Given the description of an element on the screen output the (x, y) to click on. 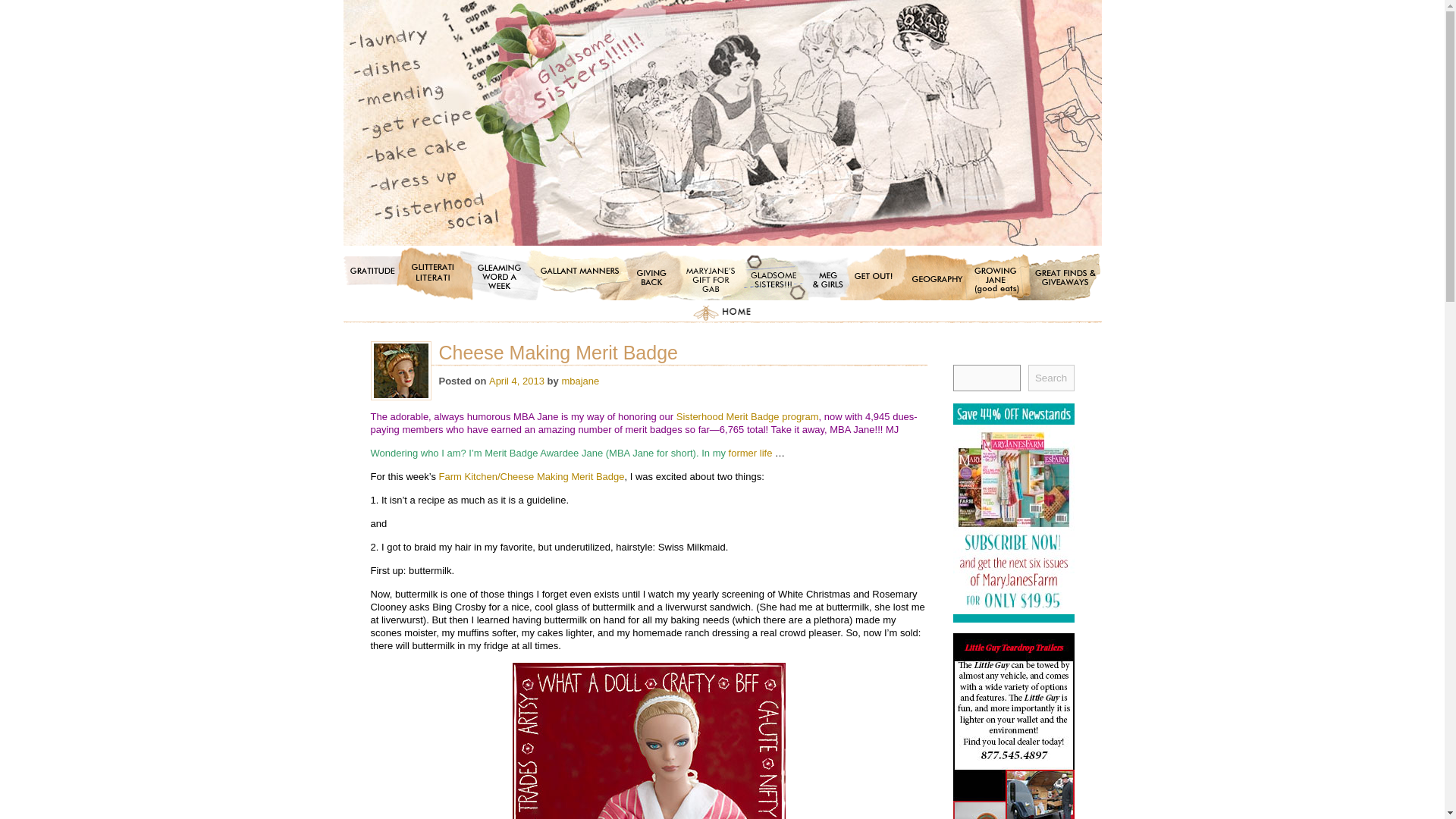
mbajane (579, 380)
12:06 am (516, 380)
View all posts by mbajane (579, 380)
Search (1050, 377)
April 4, 2013 (516, 380)
Sisterhood Merit Badge program (747, 416)
former life (751, 452)
